Given the description of an element on the screen output the (x, y) to click on. 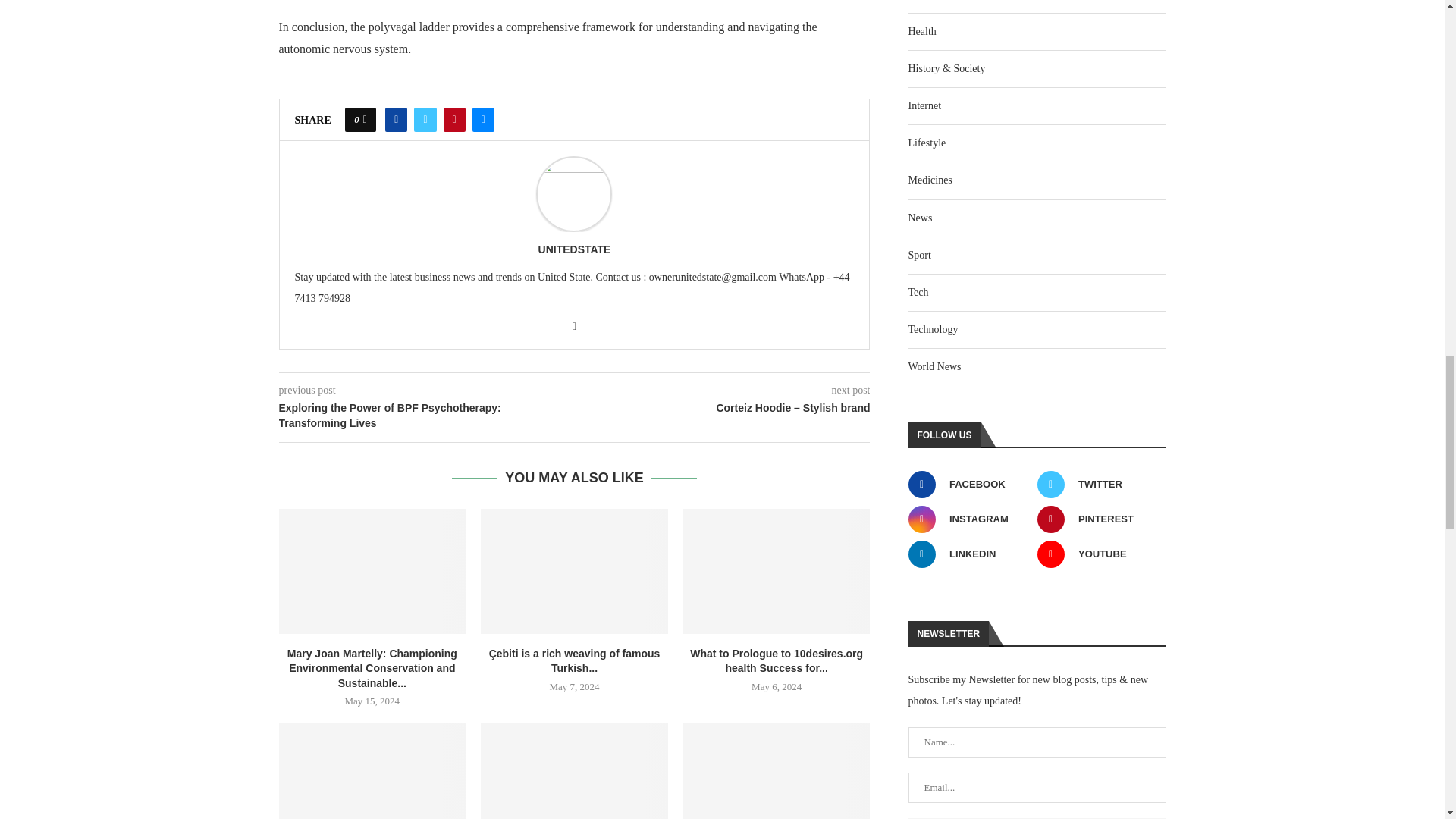
Author unitedstate (574, 249)
What to Prologue to 10desires.org health Success for having? (776, 570)
